Given the description of an element on the screen output the (x, y) to click on. 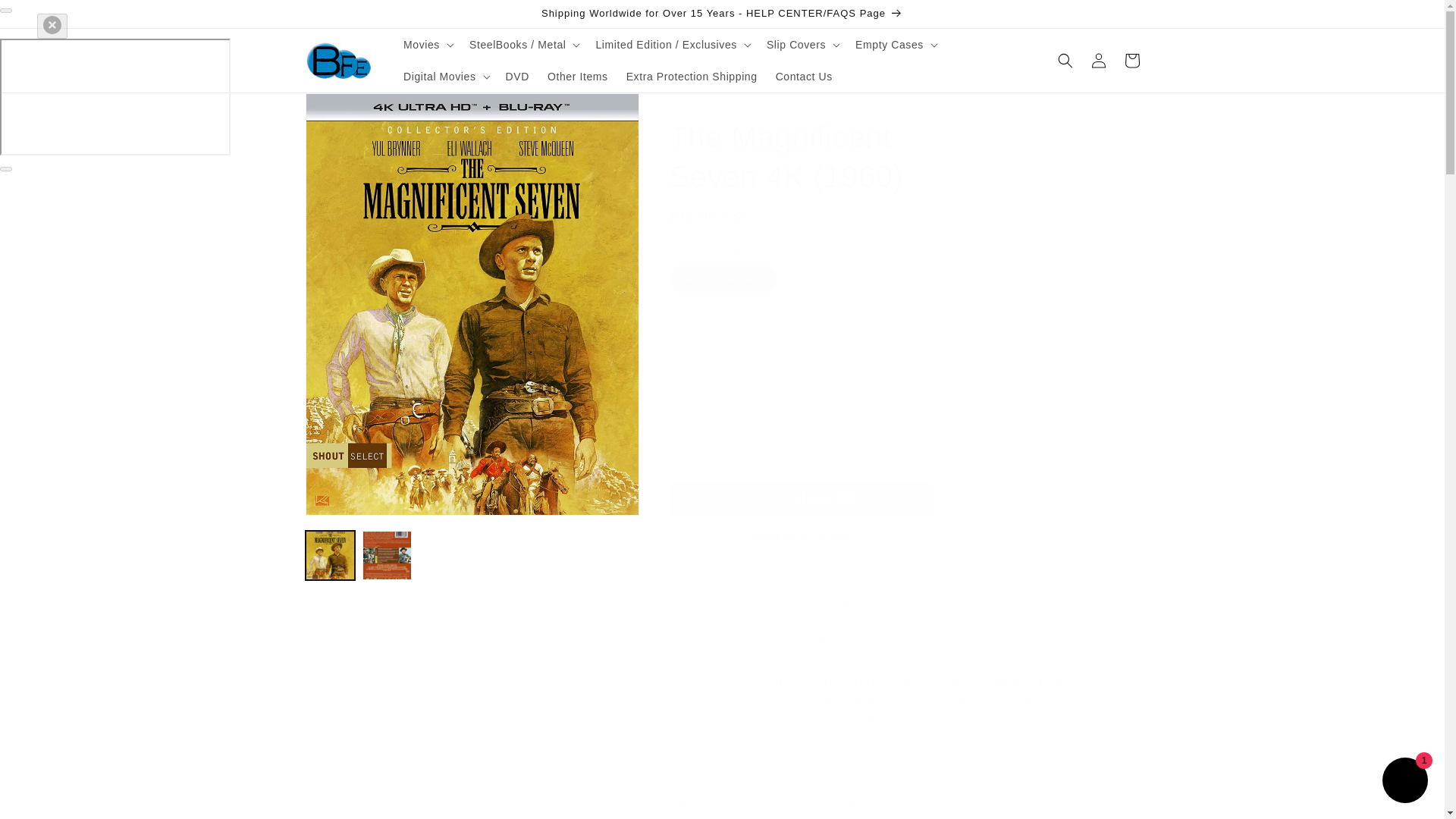
Shopify online store chat (1404, 781)
1 (722, 375)
Skip to content (45, 17)
